Given the description of an element on the screen output the (x, y) to click on. 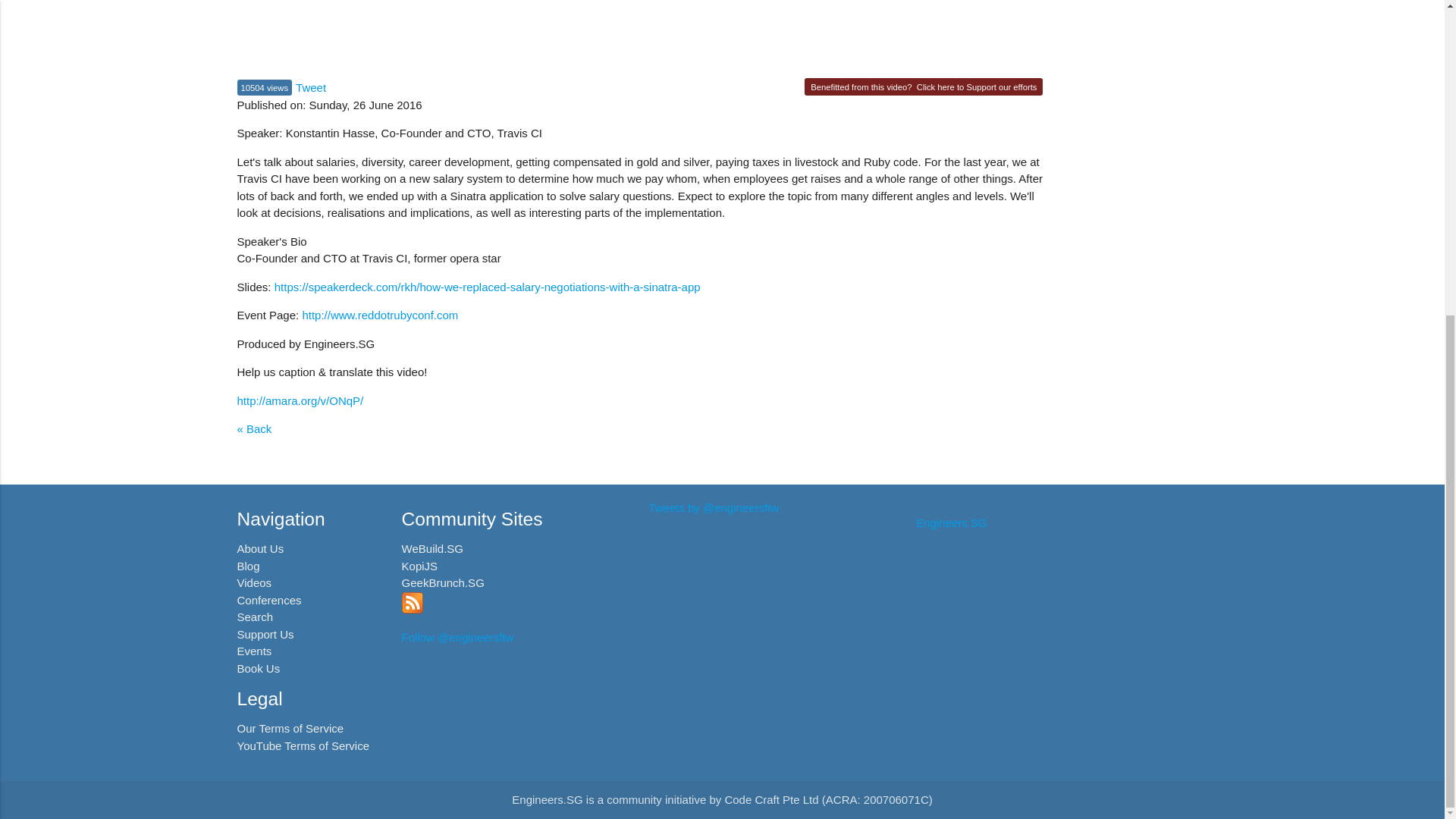
ATOM Feed (412, 608)
Tweet (310, 87)
About Us (259, 548)
Our Terms of Service (289, 727)
Blog (247, 565)
Search (254, 616)
Conferences (268, 599)
Events (252, 650)
KopiJS (419, 565)
GeekBrunch.SG (442, 582)
Support Us (264, 634)
YouTube Terms of Service (302, 745)
Click here to Support our efforts (976, 86)
Videos (252, 582)
WeBuild.SG (432, 548)
